Given the description of an element on the screen output the (x, y) to click on. 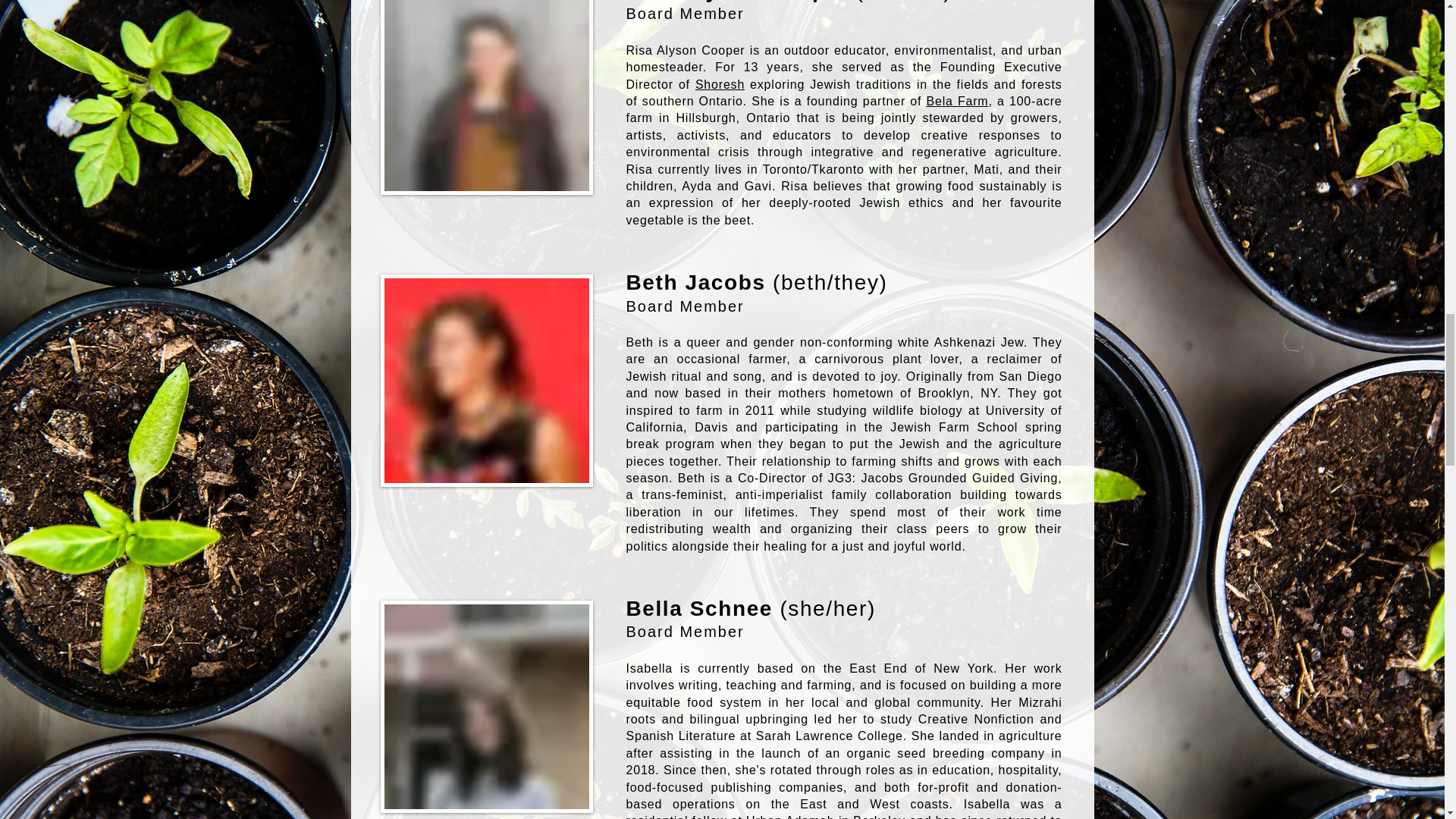
Bela Farm (957, 101)
Shoresh (719, 83)
Urban Adamah (789, 816)
